Given the description of an element on the screen output the (x, y) to click on. 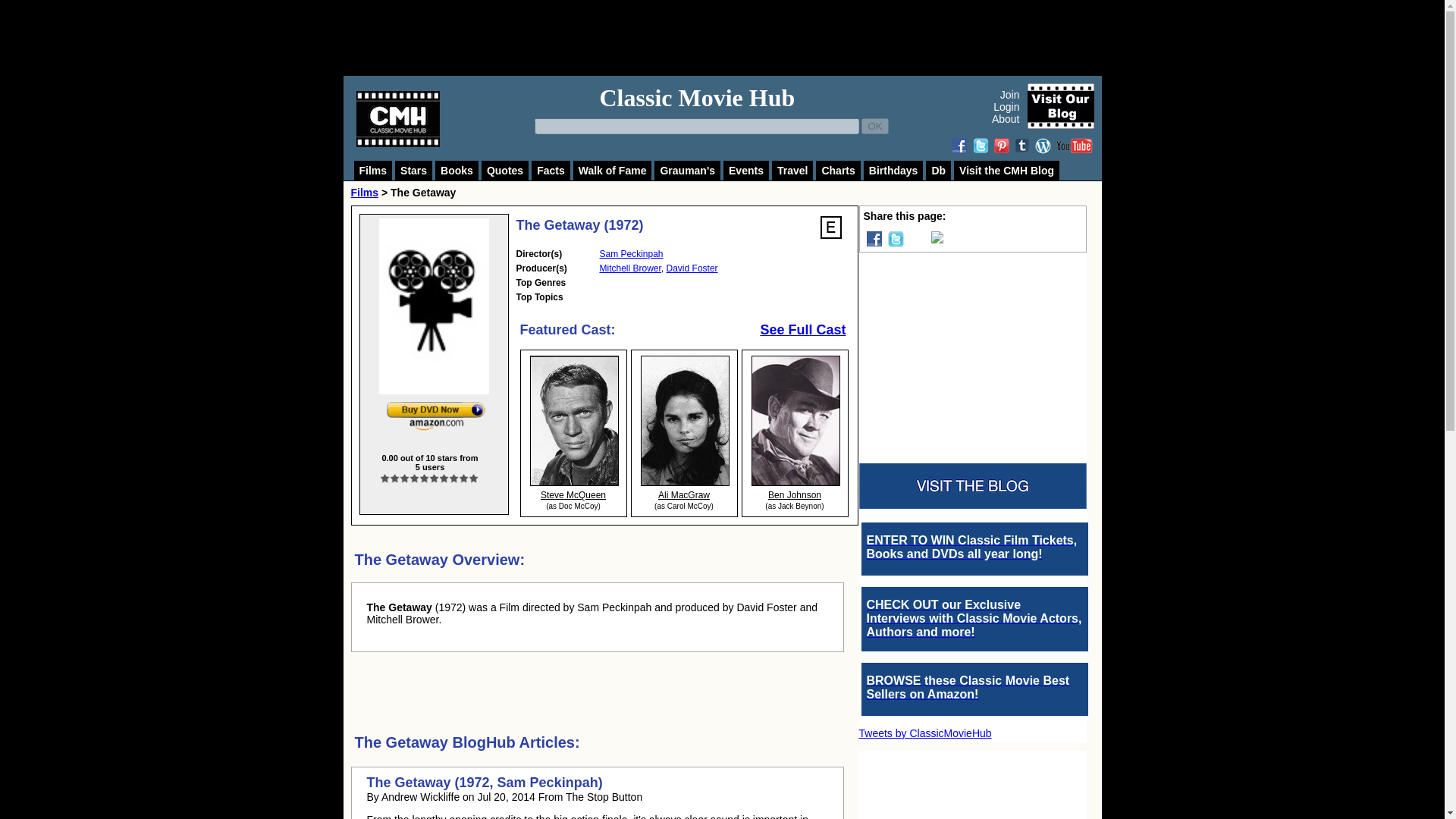
Advertisement (738, 38)
Enjoyed it, might watch again (424, 479)
Good, but once is enough (415, 479)
Login (829, 227)
Enjoyed it, would watch again (434, 479)
BEYOND love, one of my Desert Island Picks (473, 479)
Not bad but wouldn't recommend it (395, 479)
OK (874, 125)
Stars (413, 170)
The Getaway (433, 305)
About (1005, 119)
Facts (550, 170)
Login (1005, 106)
Buy The Getaway Now at Amazon (435, 416)
Quotes (504, 170)
